Given the description of an element on the screen output the (x, y) to click on. 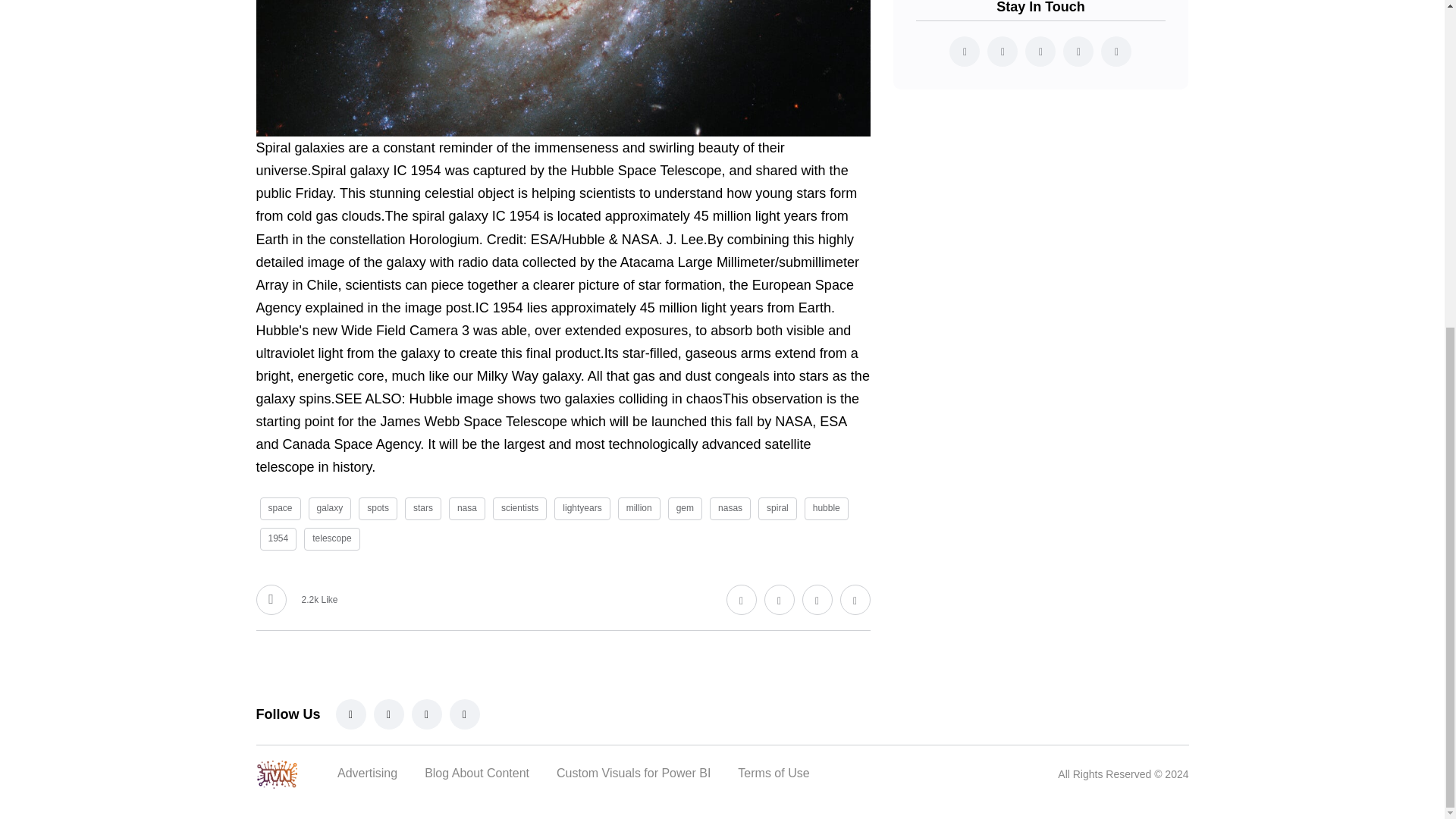
nasa (466, 508)
2.2k Like (296, 599)
lightyears (582, 508)
scientists (520, 508)
telescope (331, 538)
space (279, 508)
1954 (278, 538)
hubble (826, 508)
spiral (777, 508)
nasas (730, 508)
